Given the description of an element on the screen output the (x, y) to click on. 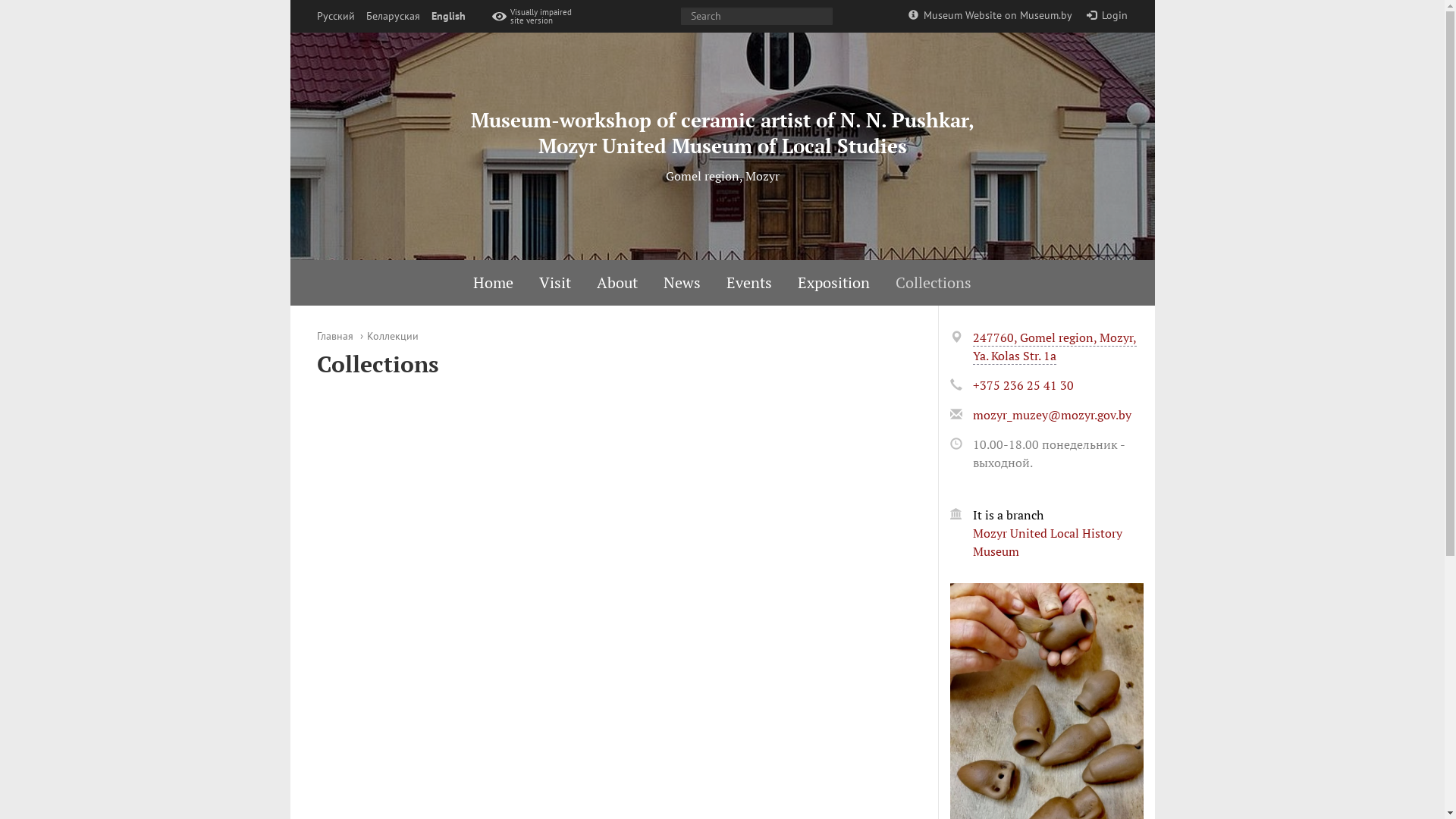
News Element type: text (681, 282)
It is a branch
Mozyr United Local History Museum Element type: text (1057, 544)
Visually impaired site version Element type: text (535, 16)
Museum Website on Museum.by Element type: text (989, 14)
+375 236 25 41 30 Element type: text (1022, 385)
About Element type: text (616, 282)
mozyr_muzey@mozyr.gov.by Element type: text (1051, 414)
English Element type: text (447, 16)
Exposition Element type: text (833, 282)
Visit Element type: text (555, 282)
247760, Gomel region, Mozyr, Ya. Kolas Str. 1a Element type: text (1053, 346)
Login Element type: text (1106, 14)
Skip to main content Element type: text (0, 0)
Enter the terms you wish to search for. Element type: hover (756, 16)
Events Element type: text (748, 282)
Home Element type: text (493, 282)
Collections Element type: text (933, 282)
